Given the description of an element on the screen output the (x, y) to click on. 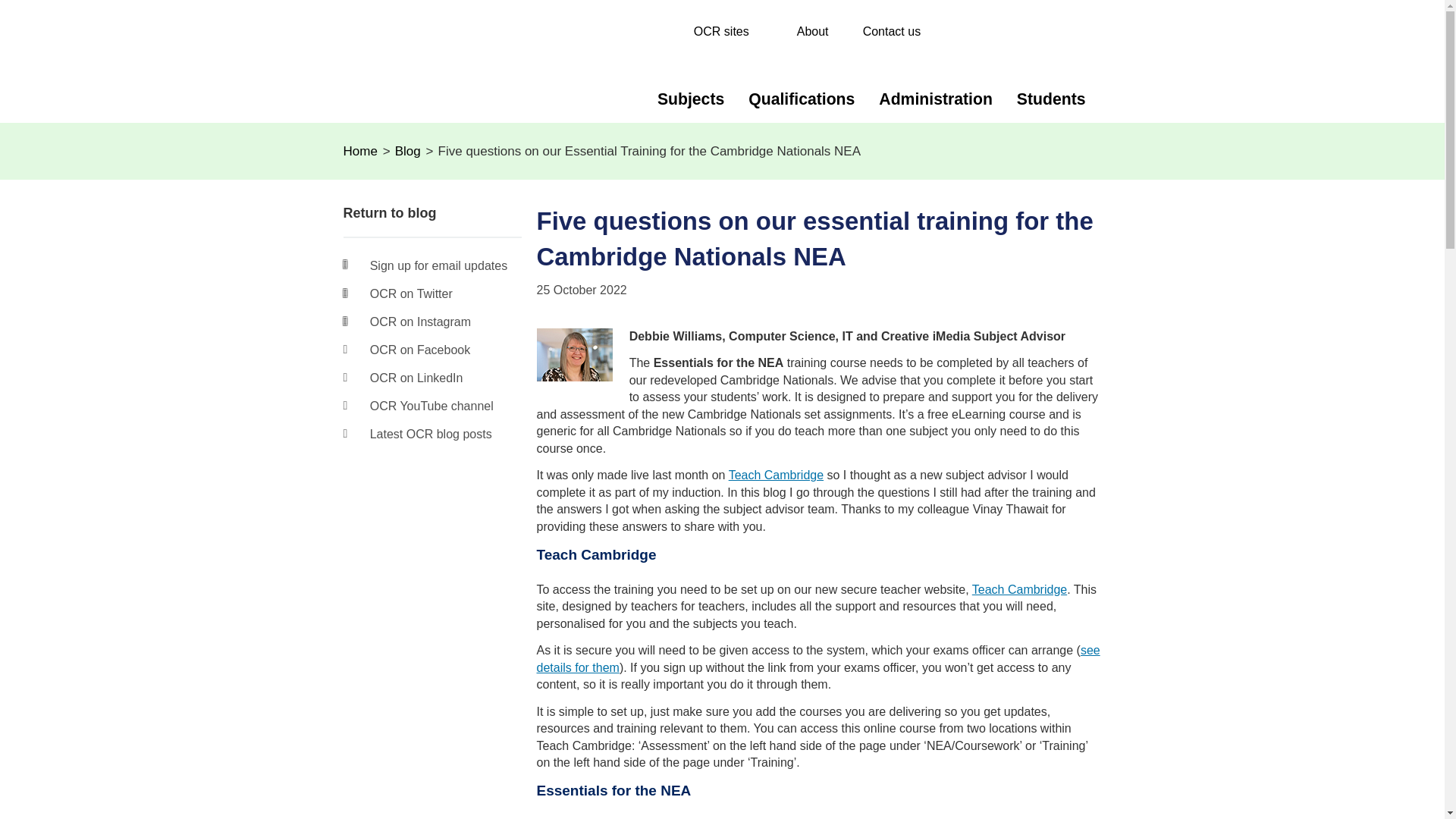
OCR sites (731, 31)
About (812, 31)
OCR homepage (399, 58)
Contact us (891, 31)
Administration (942, 101)
Subjects (697, 101)
OCR sites (731, 31)
About (812, 31)
Subjects (697, 101)
Contact us (891, 31)
